Given the description of an element on the screen output the (x, y) to click on. 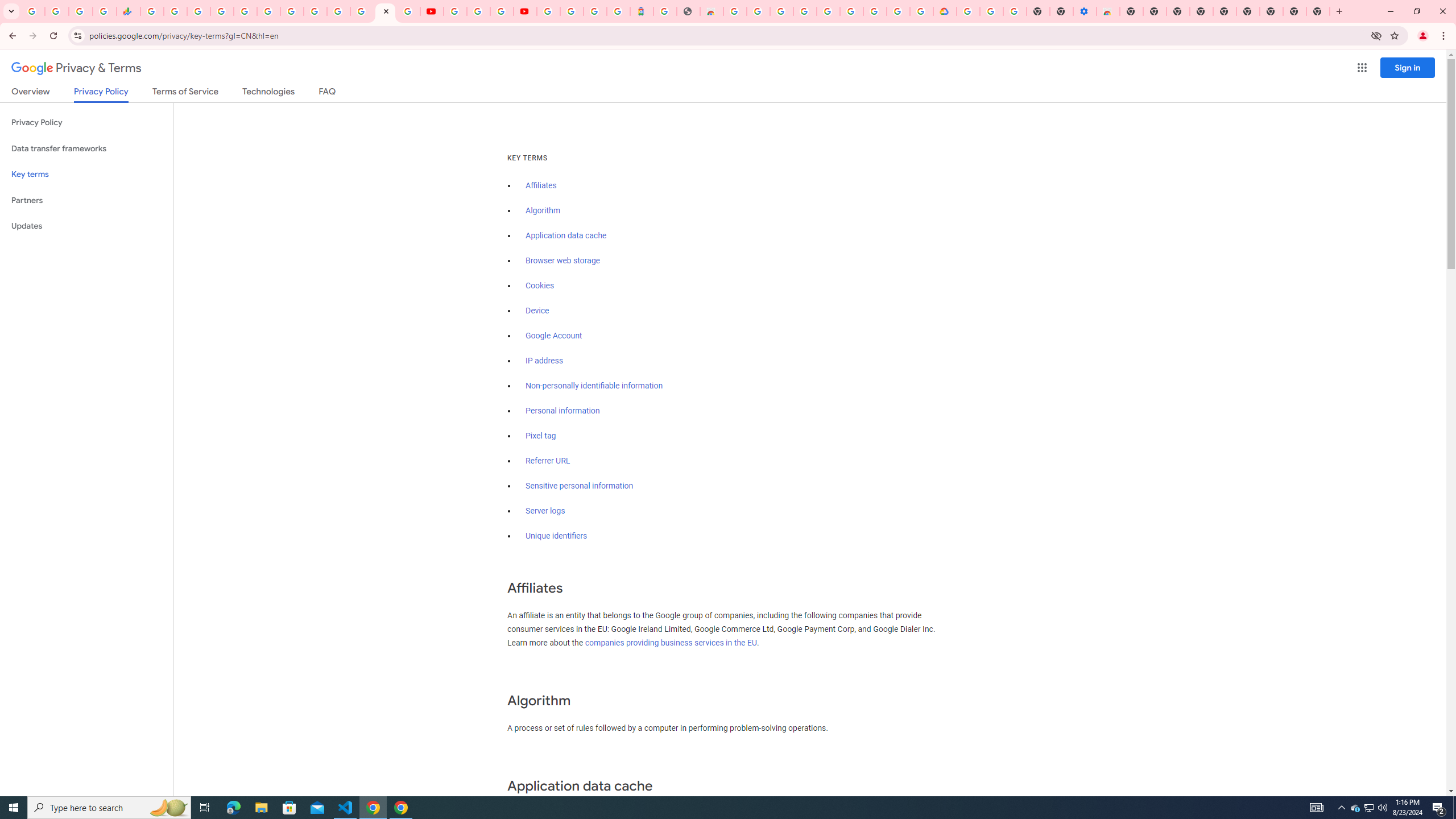
Sign in - Google Accounts (968, 11)
New Tab (1318, 11)
Google Account Help (478, 11)
Create your Google Account (501, 11)
Server logs (544, 511)
YouTube (454, 11)
Atour Hotel - Google hotels (641, 11)
